Given the description of an element on the screen output the (x, y) to click on. 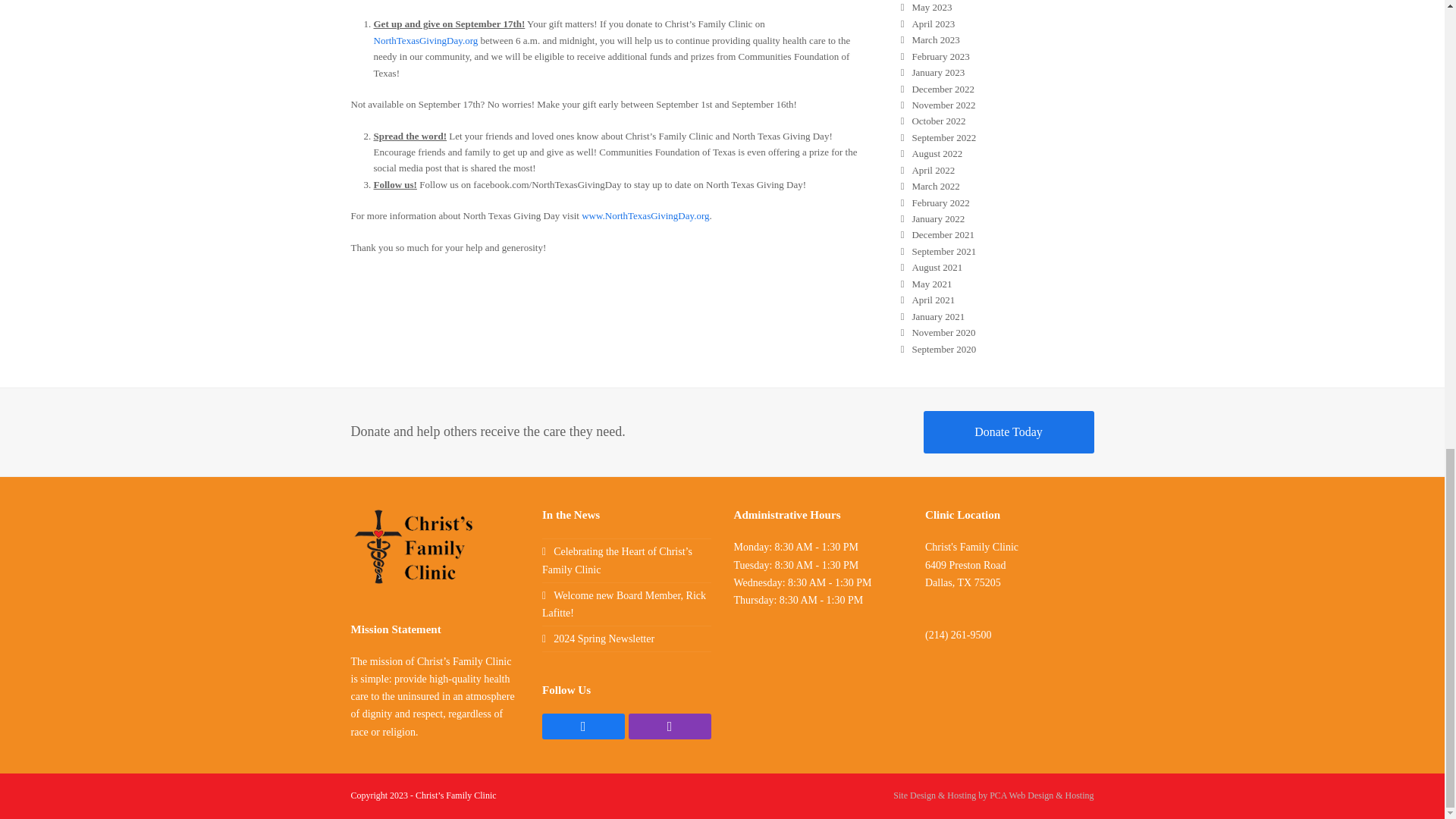
May 2023 (926, 7)
Instagram (669, 726)
NorthTexasGivingDay.org (424, 40)
www.NorthTexasGivingDay.org (644, 215)
Facebook (582, 726)
